Given the description of an element on the screen output the (x, y) to click on. 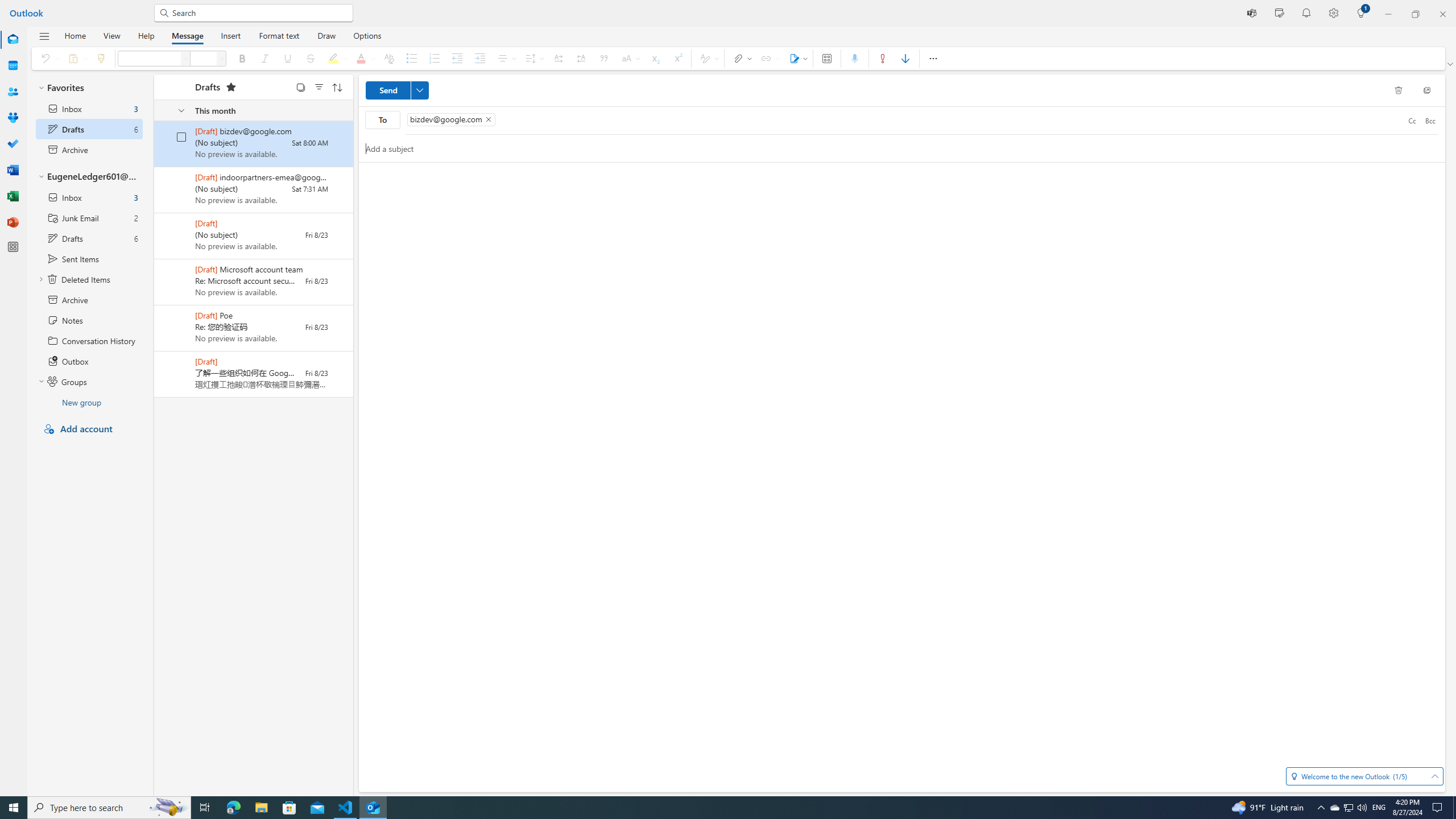
Clear formatting (388, 58)
Font (186, 58)
Sorted: By Date (336, 86)
New group (89, 401)
Mail (12, 39)
Right-to-left (580, 58)
PowerPoint (12, 222)
View (111, 35)
Favorites (89, 87)
Select (300, 86)
Message body, press Alt+F10 to exit (901, 476)
